Given the description of an element on the screen output the (x, y) to click on. 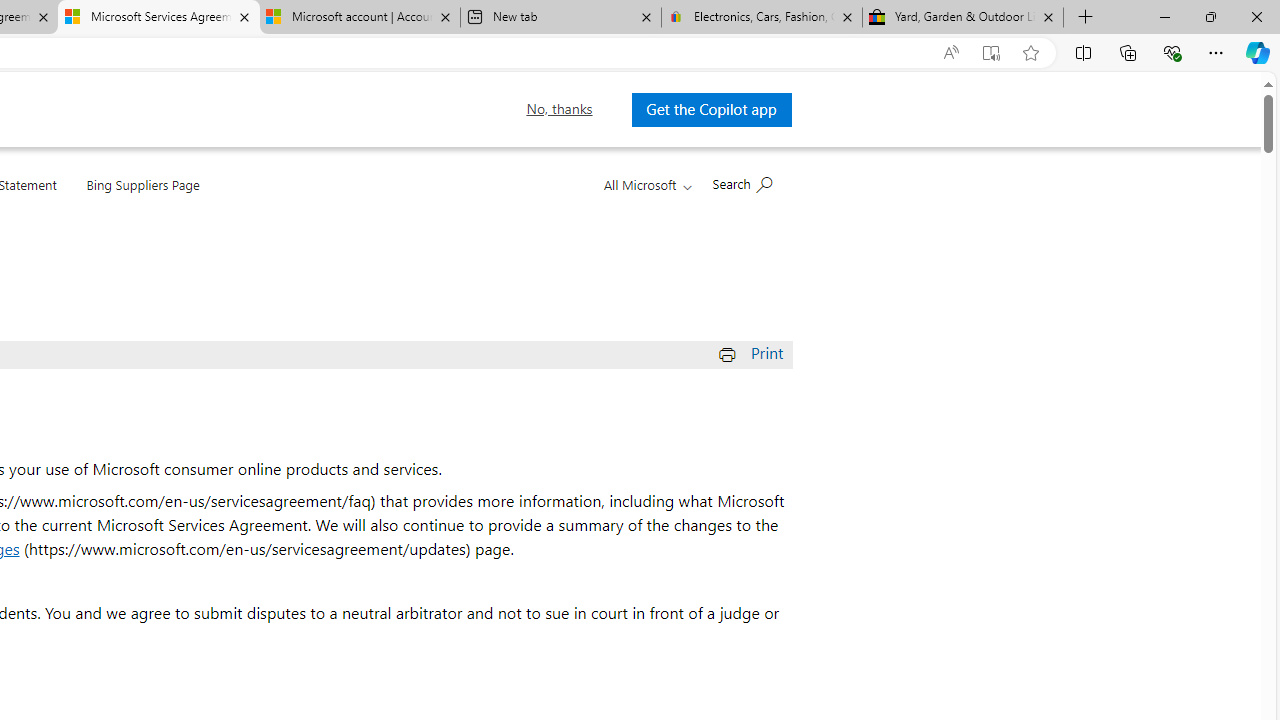
No, thanks (559, 109)
Bing Suppliers Page (142, 180)
Search Microsoft.com (742, 182)
